Given the description of an element on the screen output the (x, y) to click on. 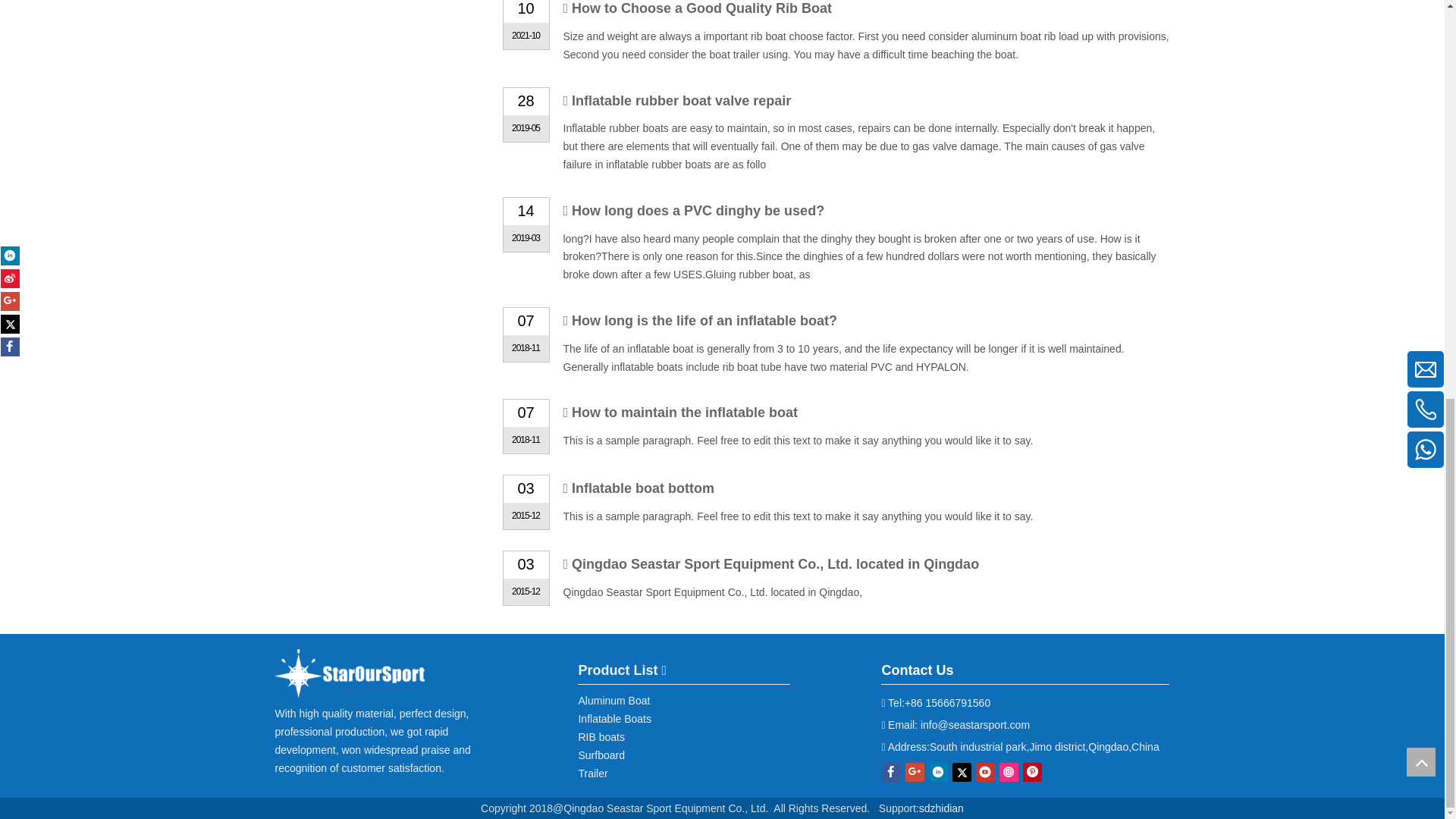
How to Choose a Good Quality Rib Boat (701, 7)
How long does a PVC dinghy be used? (698, 210)
Aluminum Boat  (613, 700)
RIB boats (601, 736)
Inflatable boat bottom (643, 488)
Inflatable rubber boat valve repair (681, 100)
How long is the life of an inflatable boat? (704, 320)
Qingdao Seastar Sport Equipment Co., Ltd. located in Qingdao (775, 563)
Inflatable Boats (614, 718)
How to maintain the inflatable boat (684, 412)
